Given the description of an element on the screen output the (x, y) to click on. 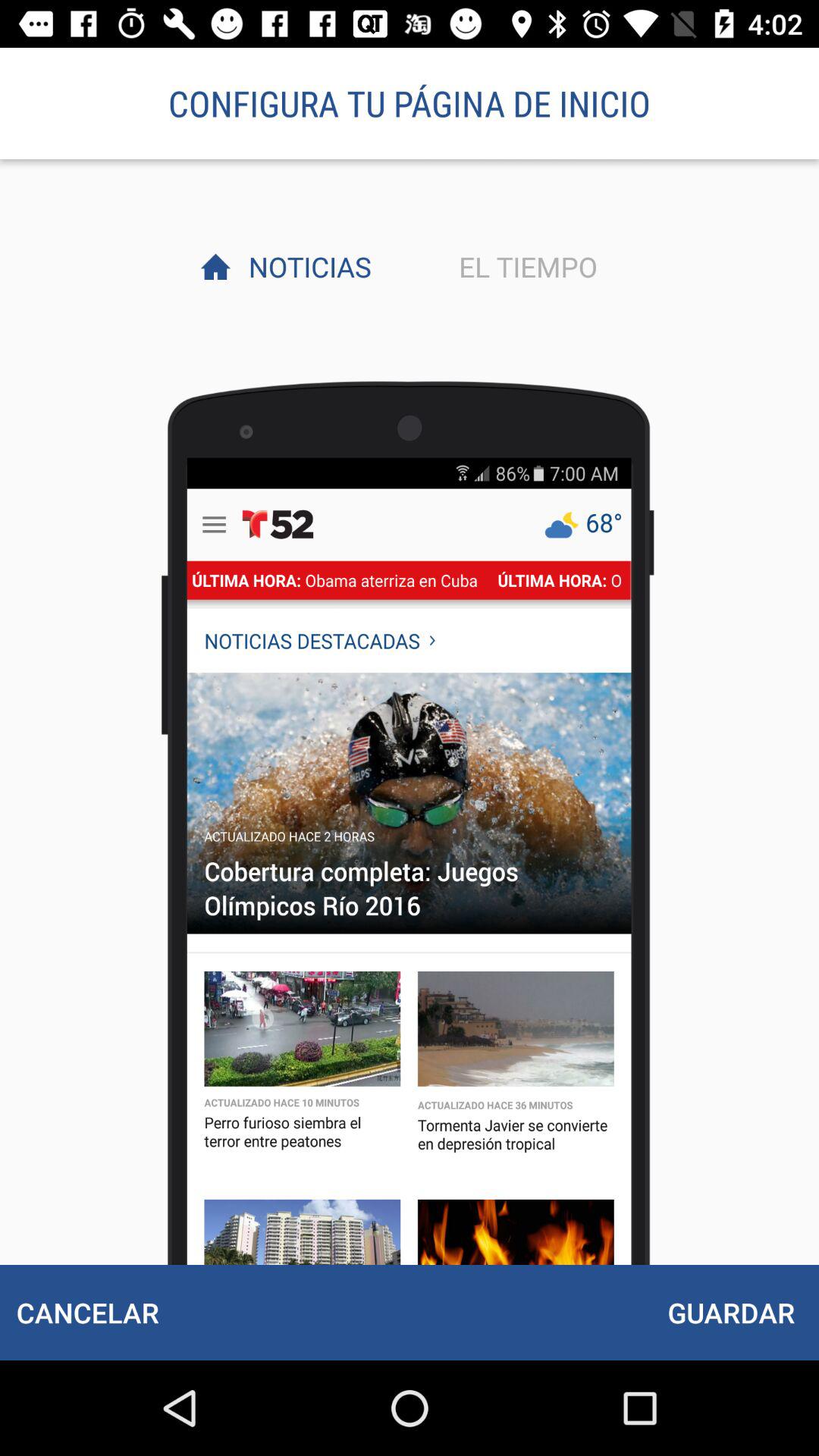
open the item at the bottom right corner (731, 1312)
